Given the description of an element on the screen output the (x, y) to click on. 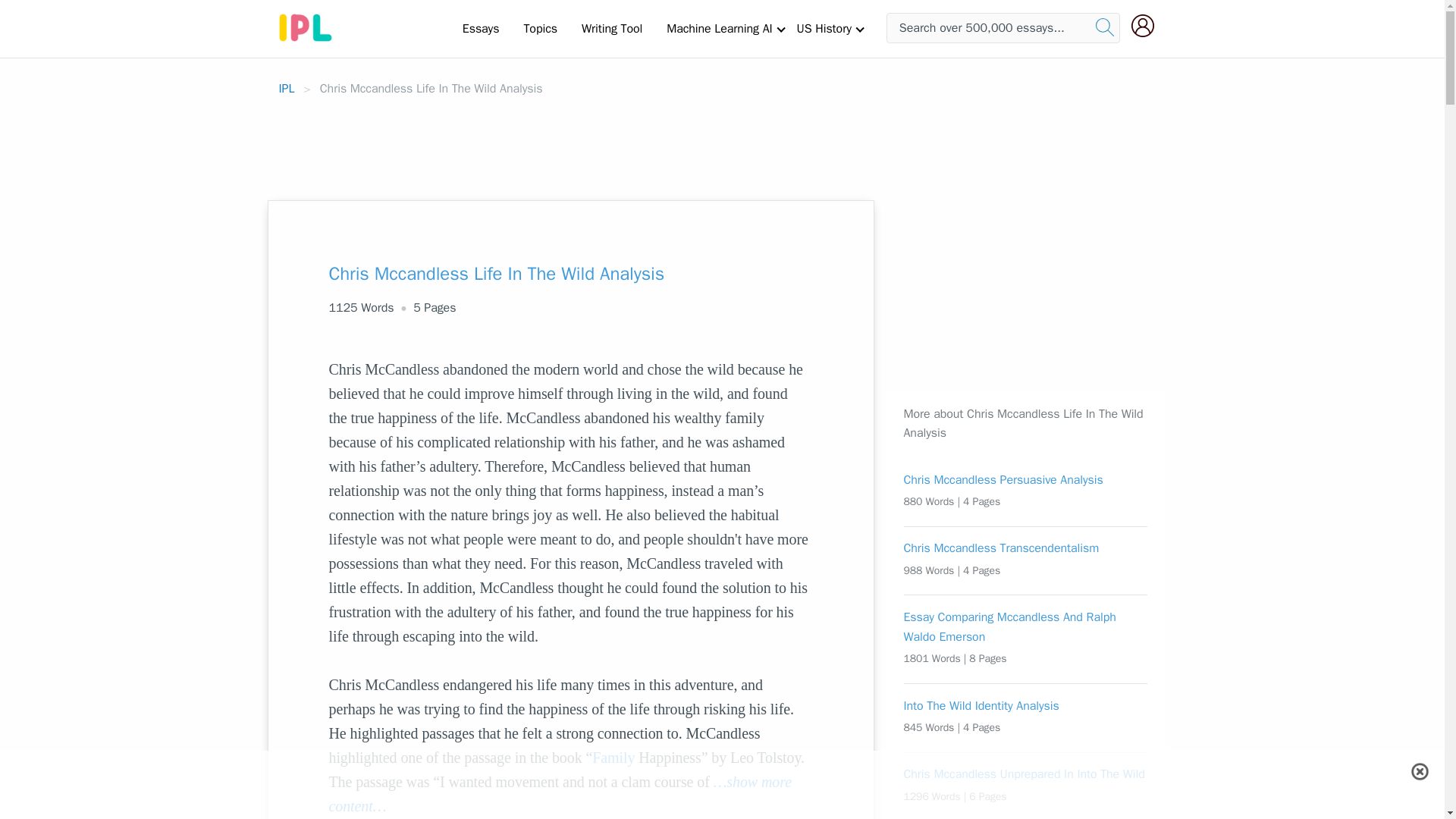
Topics (540, 28)
Essays (480, 28)
US History (823, 28)
3rd party ad content (721, 141)
Machine Learning AI (718, 28)
3rd party ad content (721, 785)
3rd party ad content (999, 294)
IPL (287, 88)
Writing Tool (611, 28)
Family (613, 757)
